Given the description of an element on the screen output the (x, y) to click on. 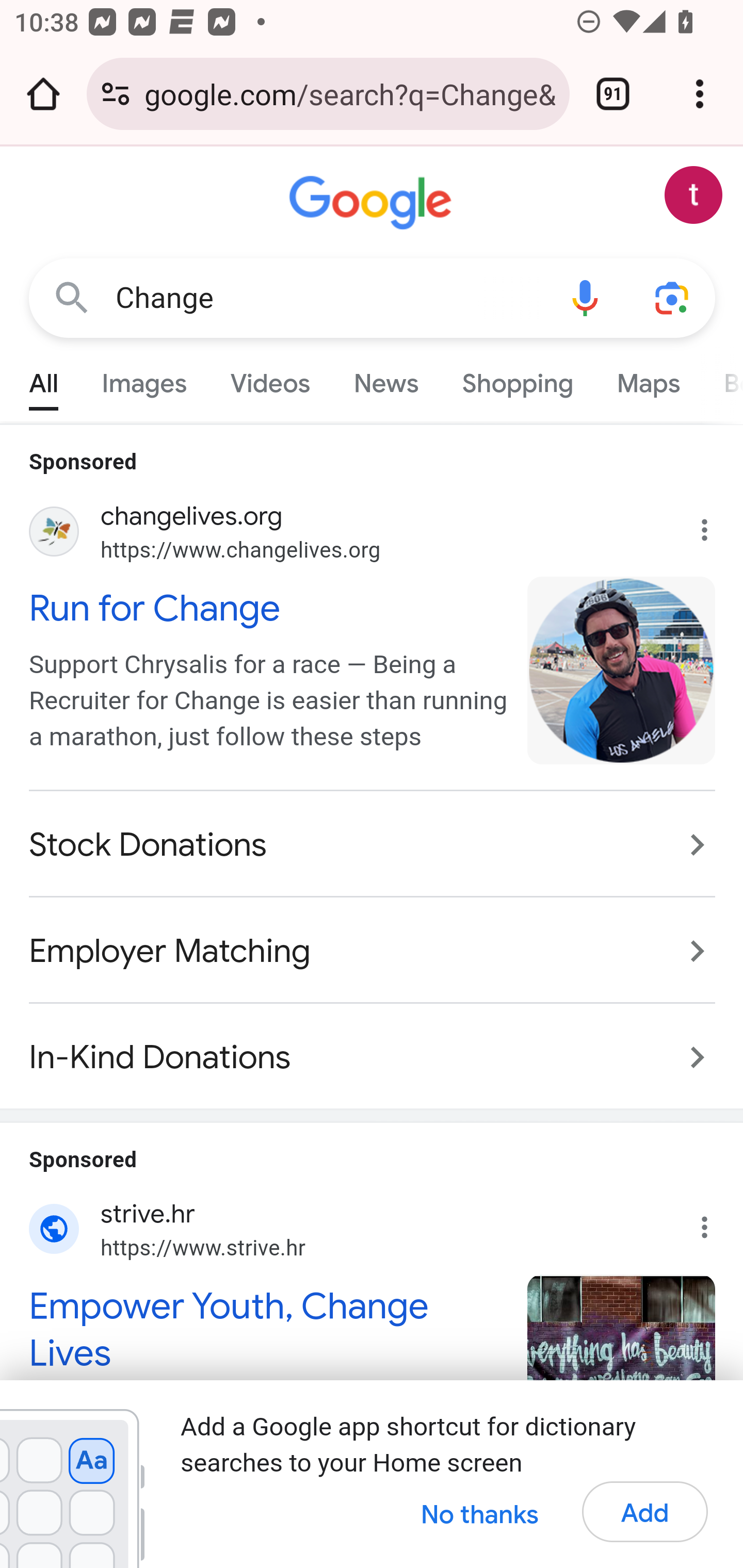
Open the home page (43, 93)
Connection is secure (115, 93)
Switch or close tabs (612, 93)
Customize and control Google Chrome (699, 93)
Google (372, 203)
Google Search (71, 296)
Search using your camera or photos (672, 296)
Change (328, 297)
Images (144, 378)
Videos (270, 378)
News (385, 378)
Shopping (516, 378)
Maps (647, 378)
Why this ad? (714, 525)
Image from changelives.org (621, 670)
Run for Change (266, 608)
Stock Donations (372, 844)
Employer Matching (372, 951)
In-Kind Donations (372, 1046)
Why this ad? (714, 1221)
Empower Youth, Change Lives (266, 1327)
